Given the description of an element on the screen output the (x, y) to click on. 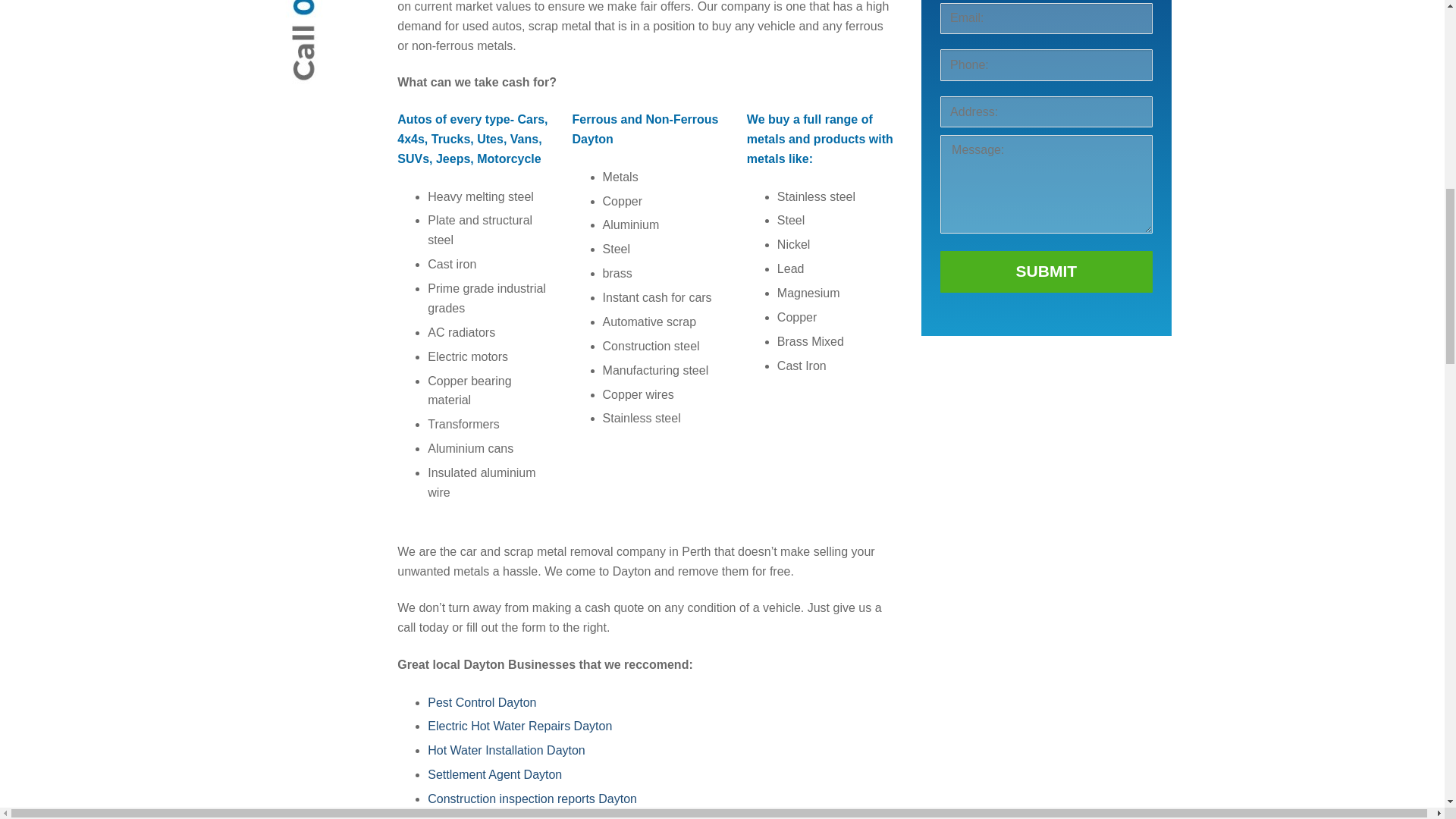
Electric Hot Water Repairs Dayton (519, 725)
Construction inspection reports Dayton  (534, 798)
Pest Control Dayton (481, 702)
Hot Water Installation Dayton (506, 749)
Settlement Agent Dayton (495, 774)
Submit (1045, 271)
